Given the description of an element on the screen output the (x, y) to click on. 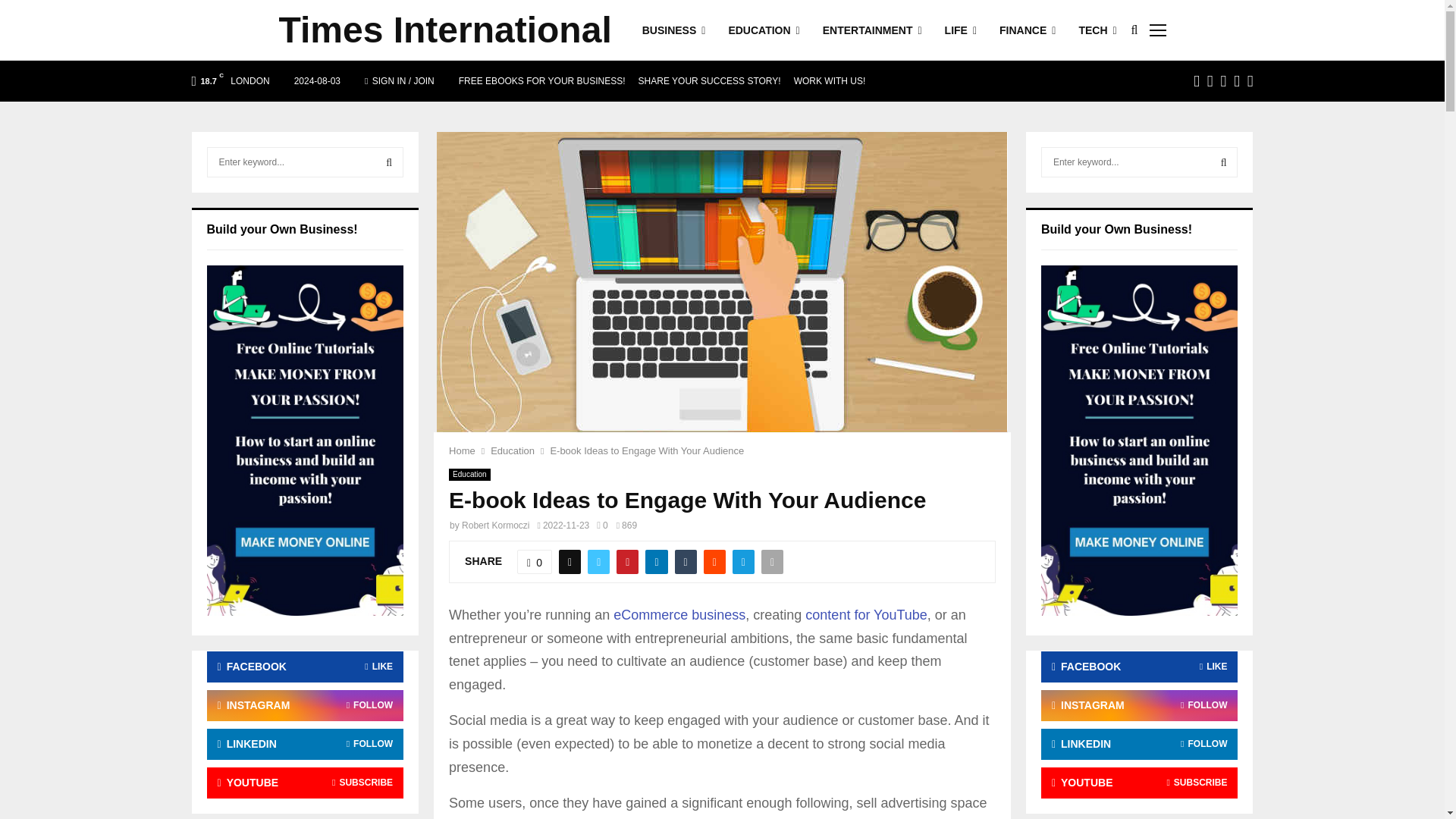
BUSINESS (674, 30)
EDUCATION (763, 30)
Times International (445, 30)
